Given the description of an element on the screen output the (x, y) to click on. 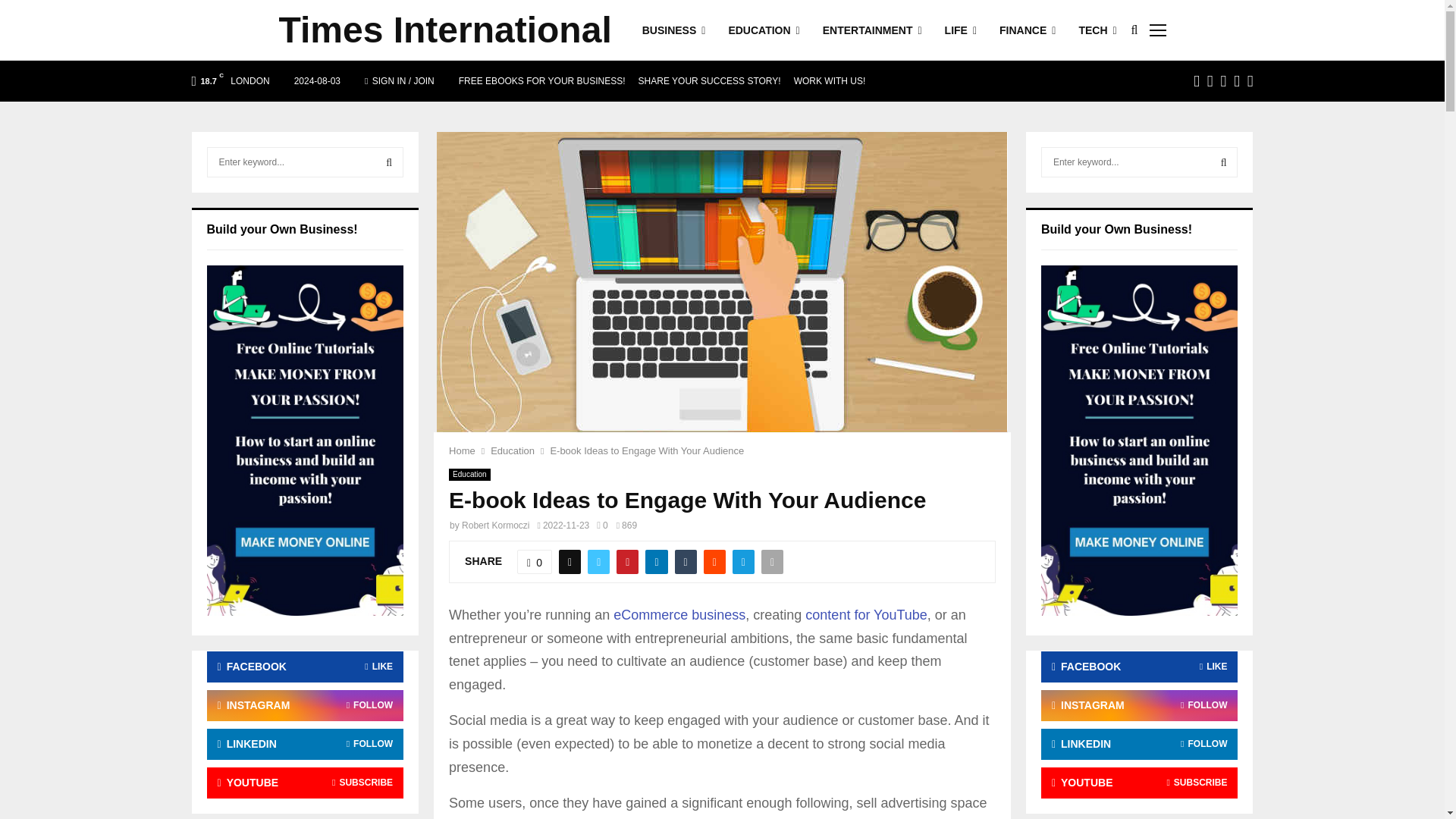
BUSINESS (674, 30)
EDUCATION (763, 30)
Times International (445, 30)
